Given the description of an element on the screen output the (x, y) to click on. 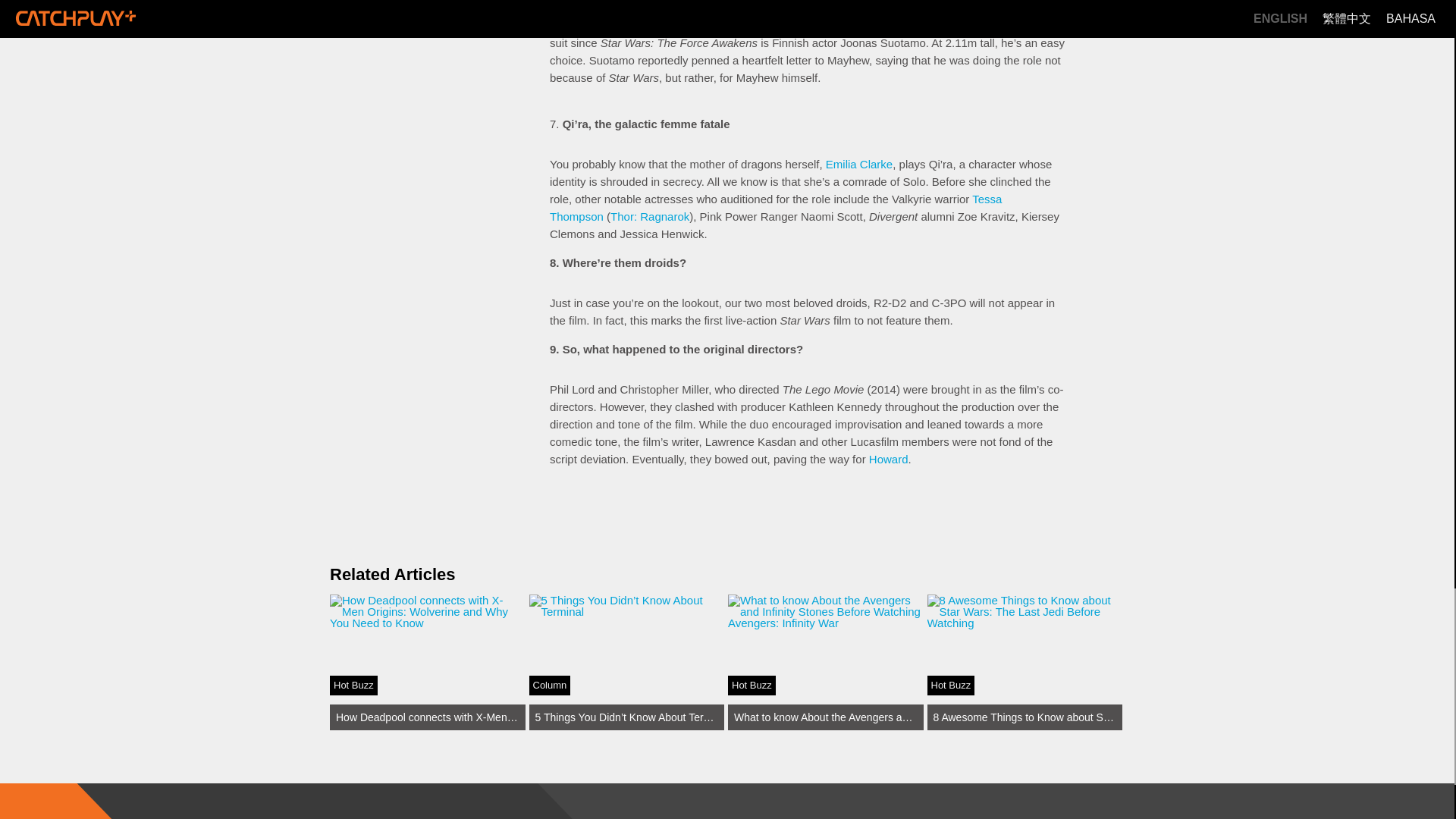
Thor: Ragnarok (649, 215)
Howard (888, 459)
Tessa Thompson (775, 207)
Emilia Clarke (858, 164)
